Given the description of an element on the screen output the (x, y) to click on. 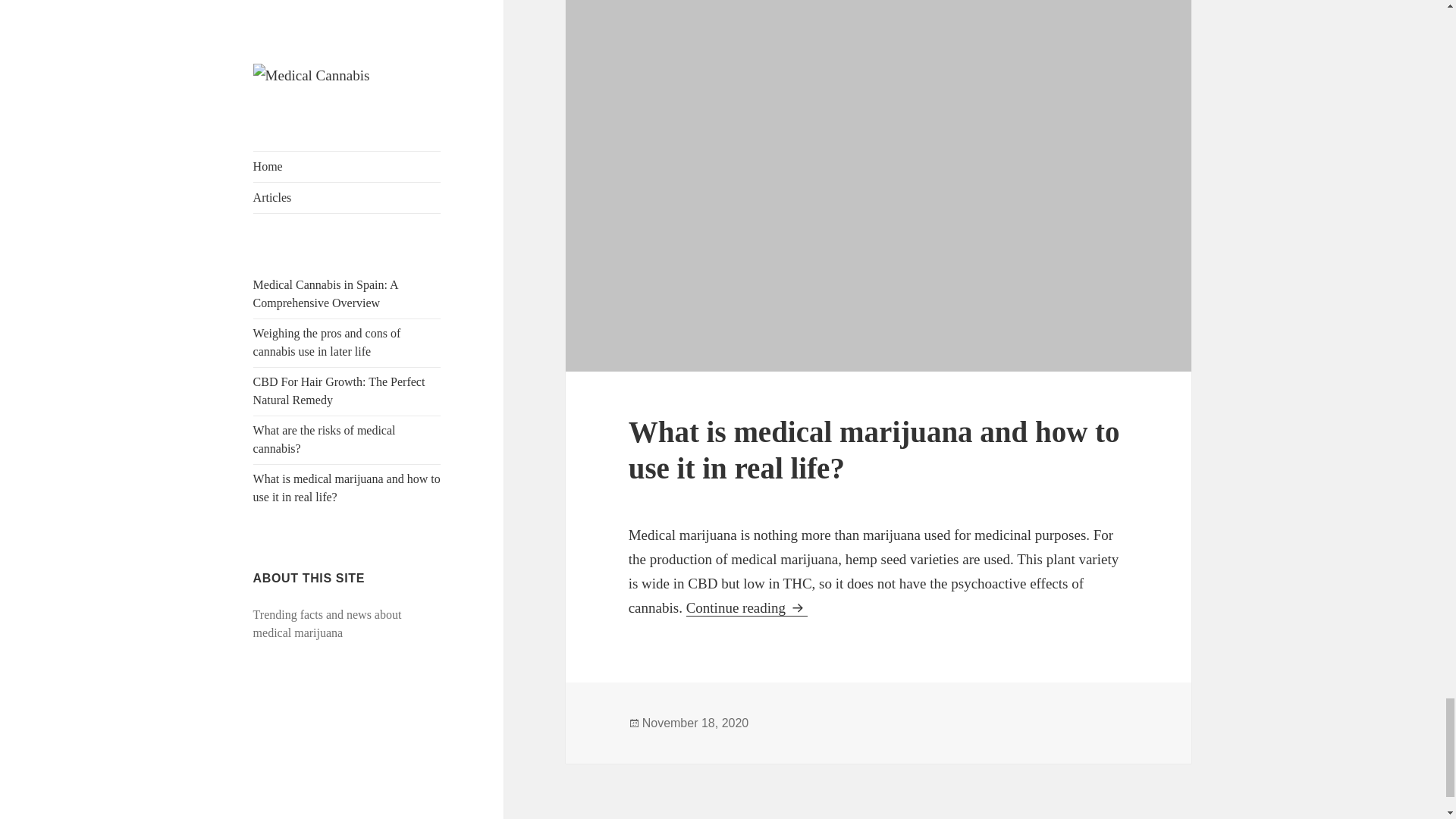
What is medical marijuana and how to use it in real life? (873, 449)
November 18, 2020 (695, 723)
